Given the description of an element on the screen output the (x, y) to click on. 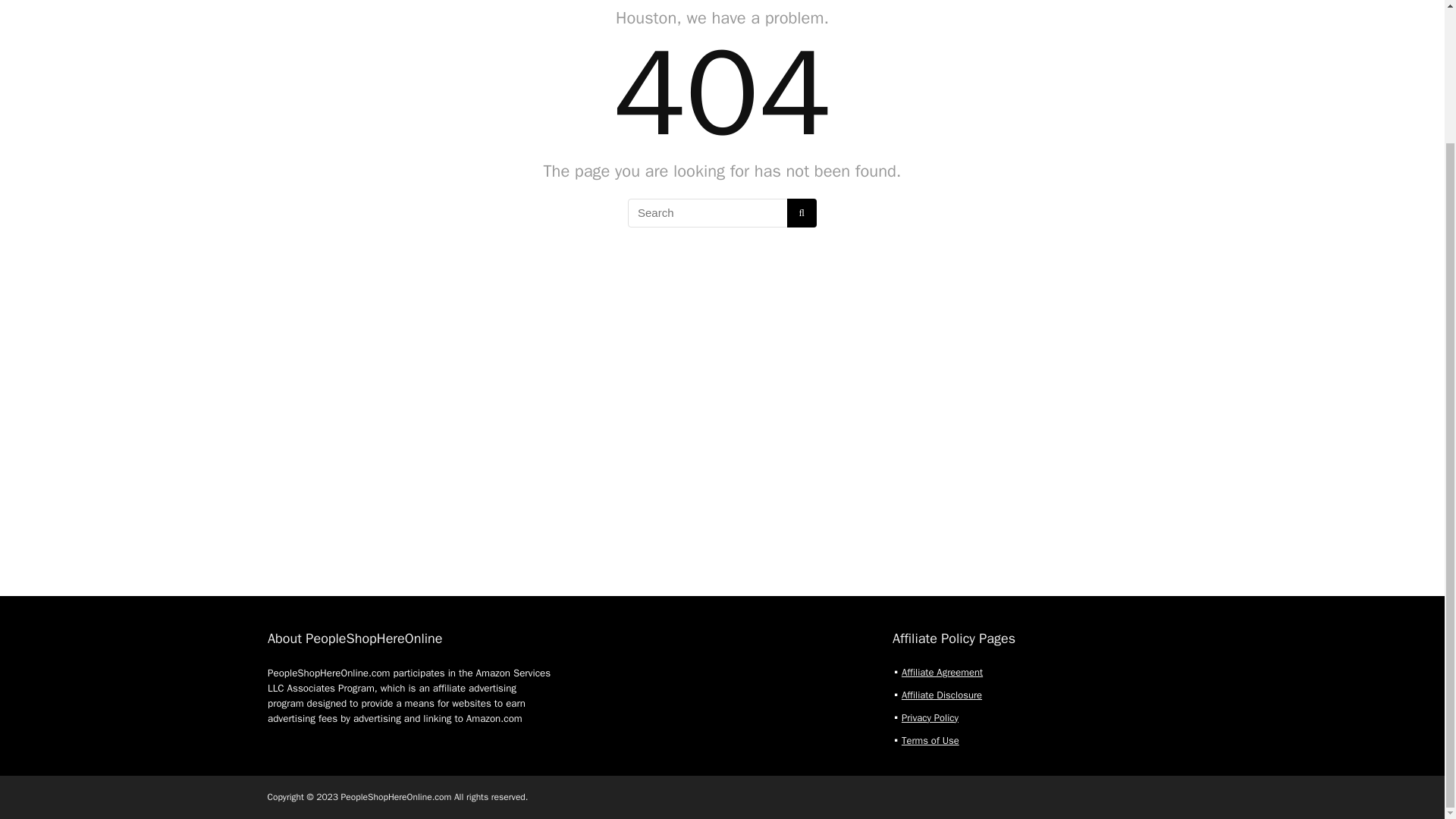
Privacy Policy (929, 716)
Affiliate Disclosure (941, 694)
Terms of Use (930, 739)
Affiliate Agreement (941, 671)
